Given the description of an element on the screen output the (x, y) to click on. 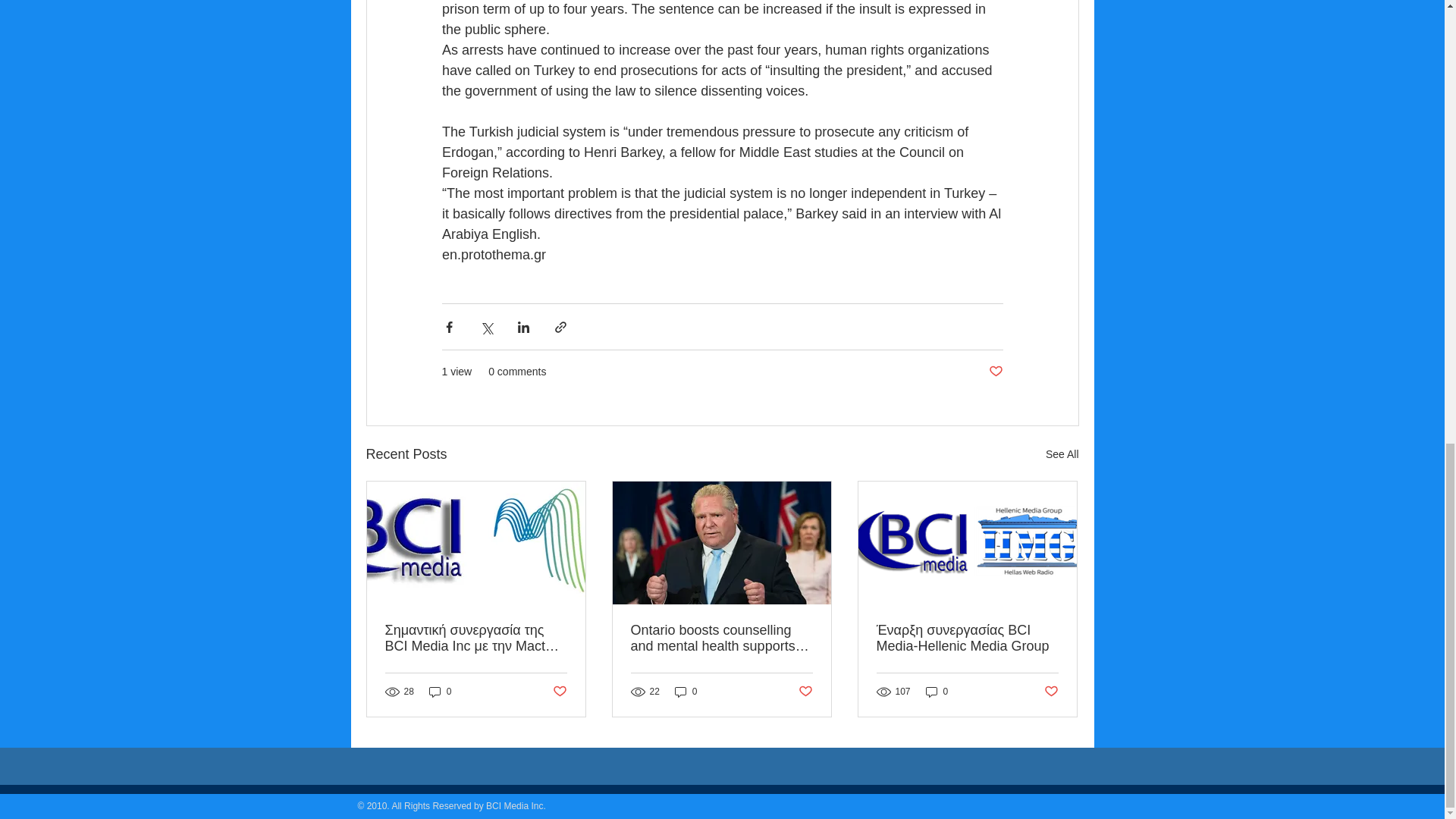
0 (937, 691)
Post not marked as liked (1050, 691)
Post not marked as liked (995, 371)
Post not marked as liked (804, 691)
Post not marked as liked (558, 691)
See All (1061, 454)
0 (685, 691)
0 (440, 691)
